Given the description of an element on the screen output the (x, y) to click on. 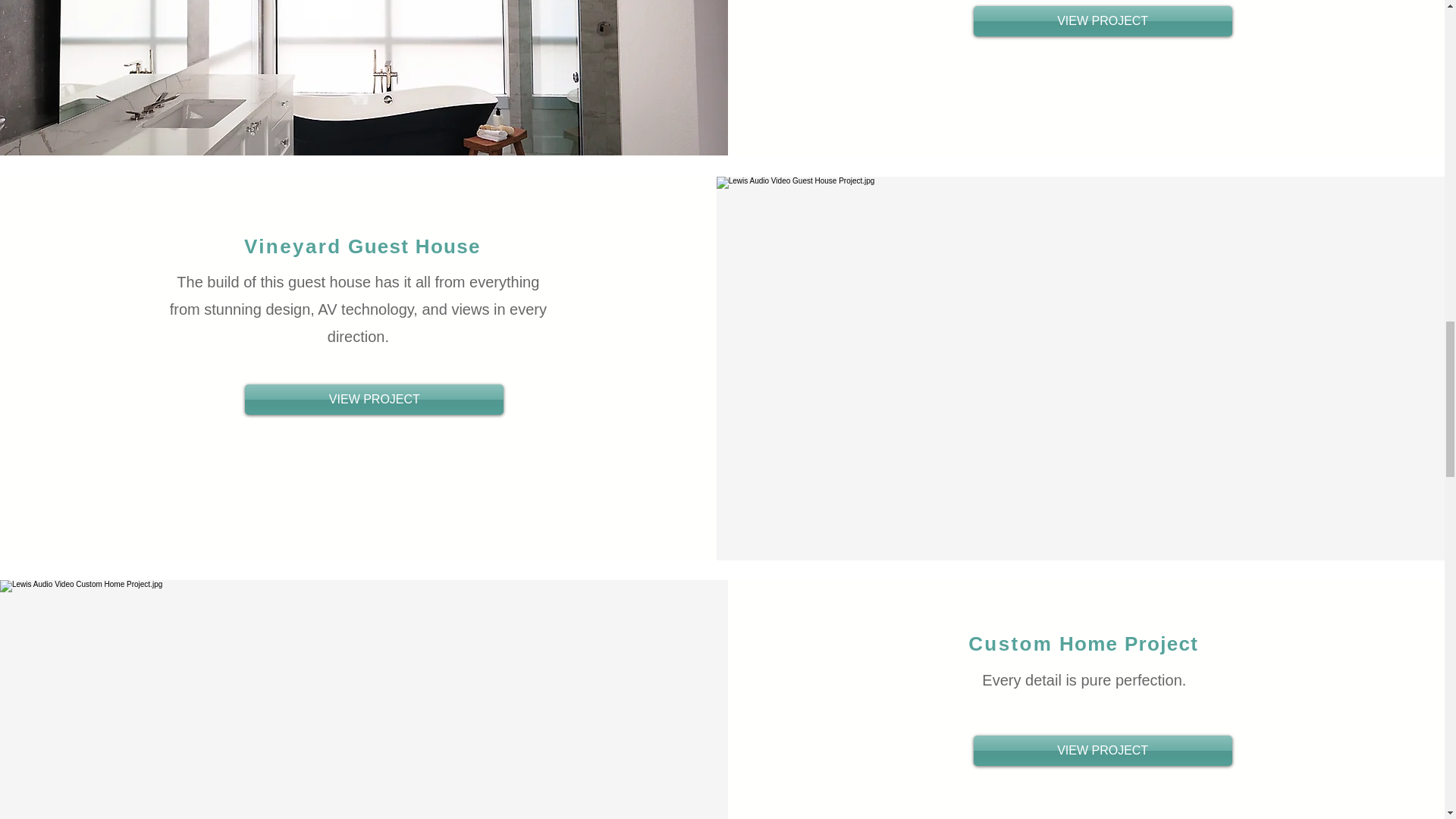
VIEW PROJECT (373, 399)
VIEW PROJECT (1102, 750)
VIEW PROJECT (1102, 20)
